Given the description of an element on the screen output the (x, y) to click on. 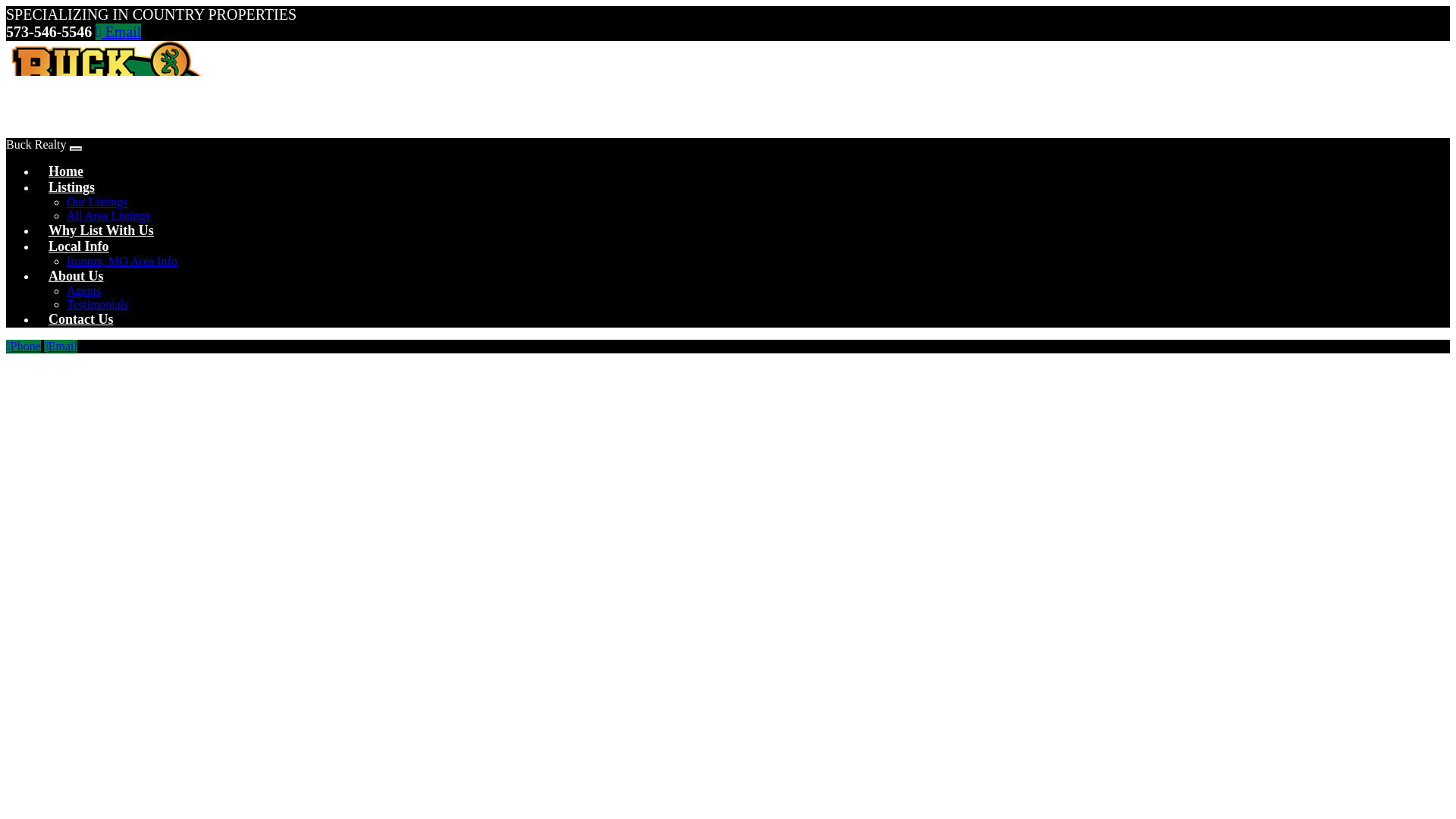
Email (118, 31)
Agents (83, 290)
Ironton, MO Area Info (121, 260)
Home (66, 174)
Contact Us (80, 322)
Why List With Us (100, 233)
Local Info (78, 249)
About Us (76, 278)
Skip to main content (784, 2)
Testimonials (97, 304)
